Given the description of an element on the screen output the (x, y) to click on. 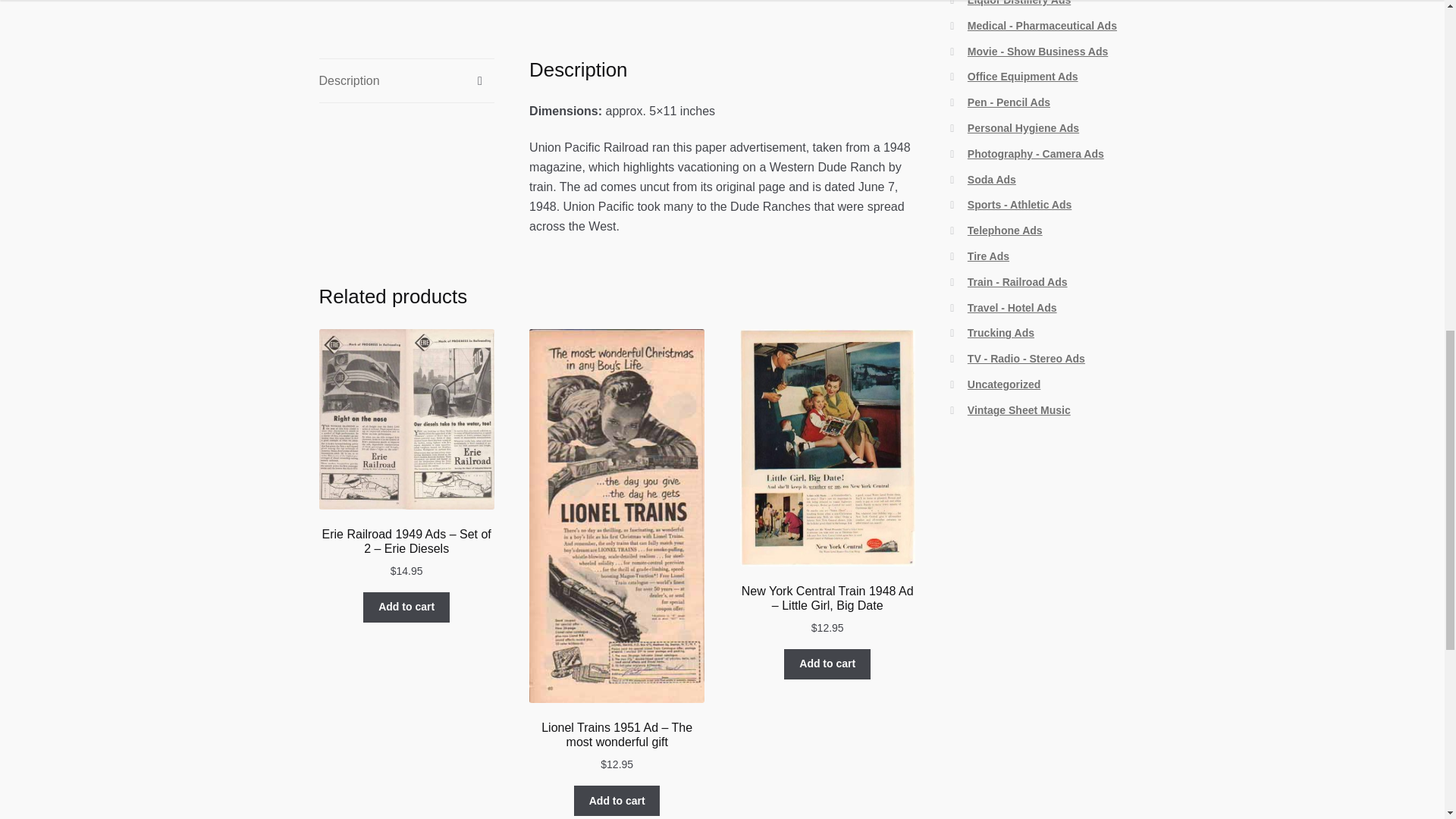
Add to cart (827, 664)
Add to cart (617, 800)
Description (406, 80)
Add to cart (405, 607)
